Given the description of an element on the screen output the (x, y) to click on. 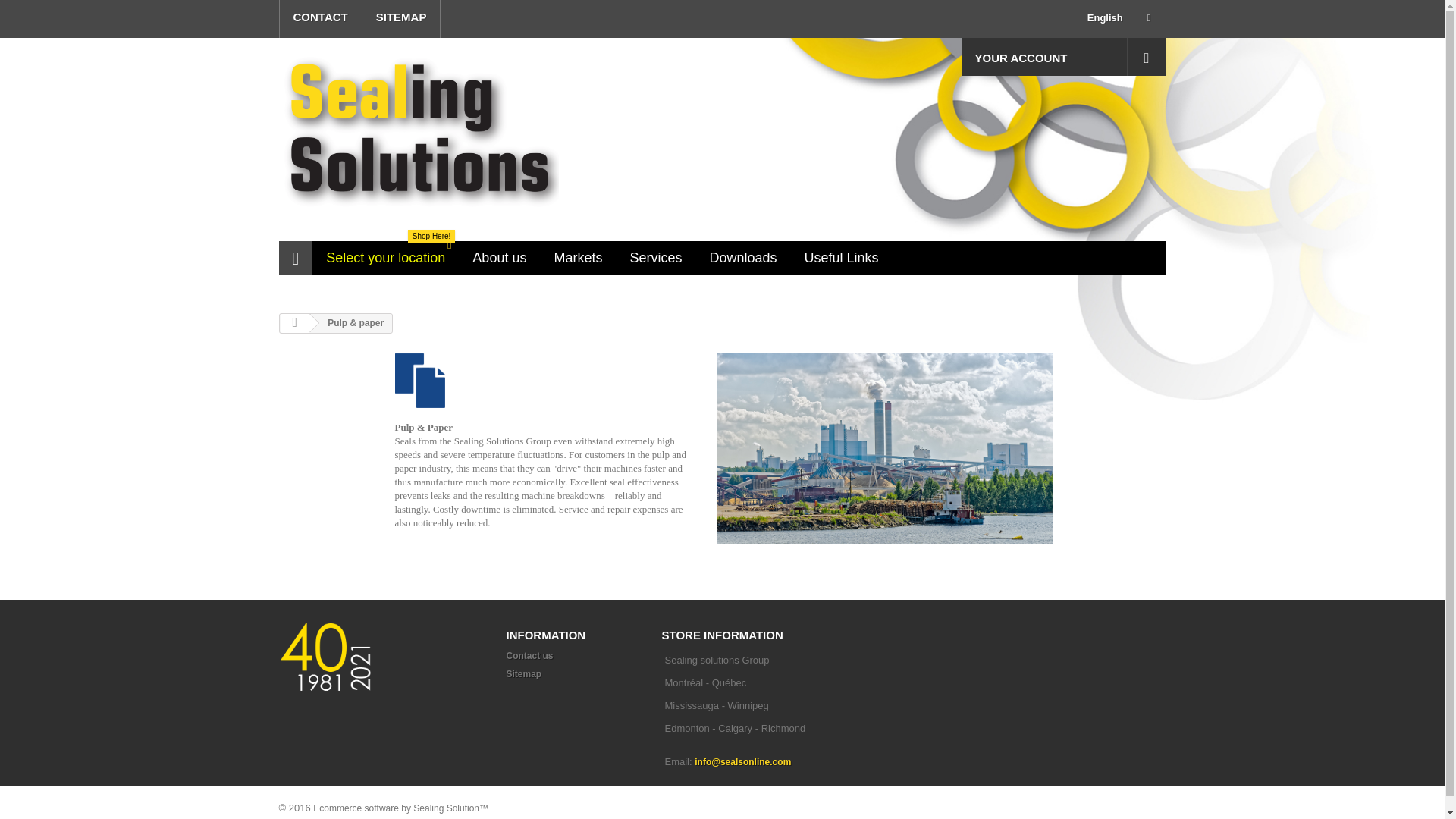
Downloads (742, 257)
About us (499, 257)
Contact us (529, 655)
Sealsonline.com (419, 138)
Sitemap (523, 674)
CONTACT (385, 257)
Markets (320, 18)
sitemap (577, 257)
Return to Home (401, 18)
YOUR ACCOUNT (294, 322)
Login to your customer account (1043, 56)
Services (1146, 56)
SITEMAP (655, 257)
Useful Links (401, 18)
